Given the description of an element on the screen output the (x, y) to click on. 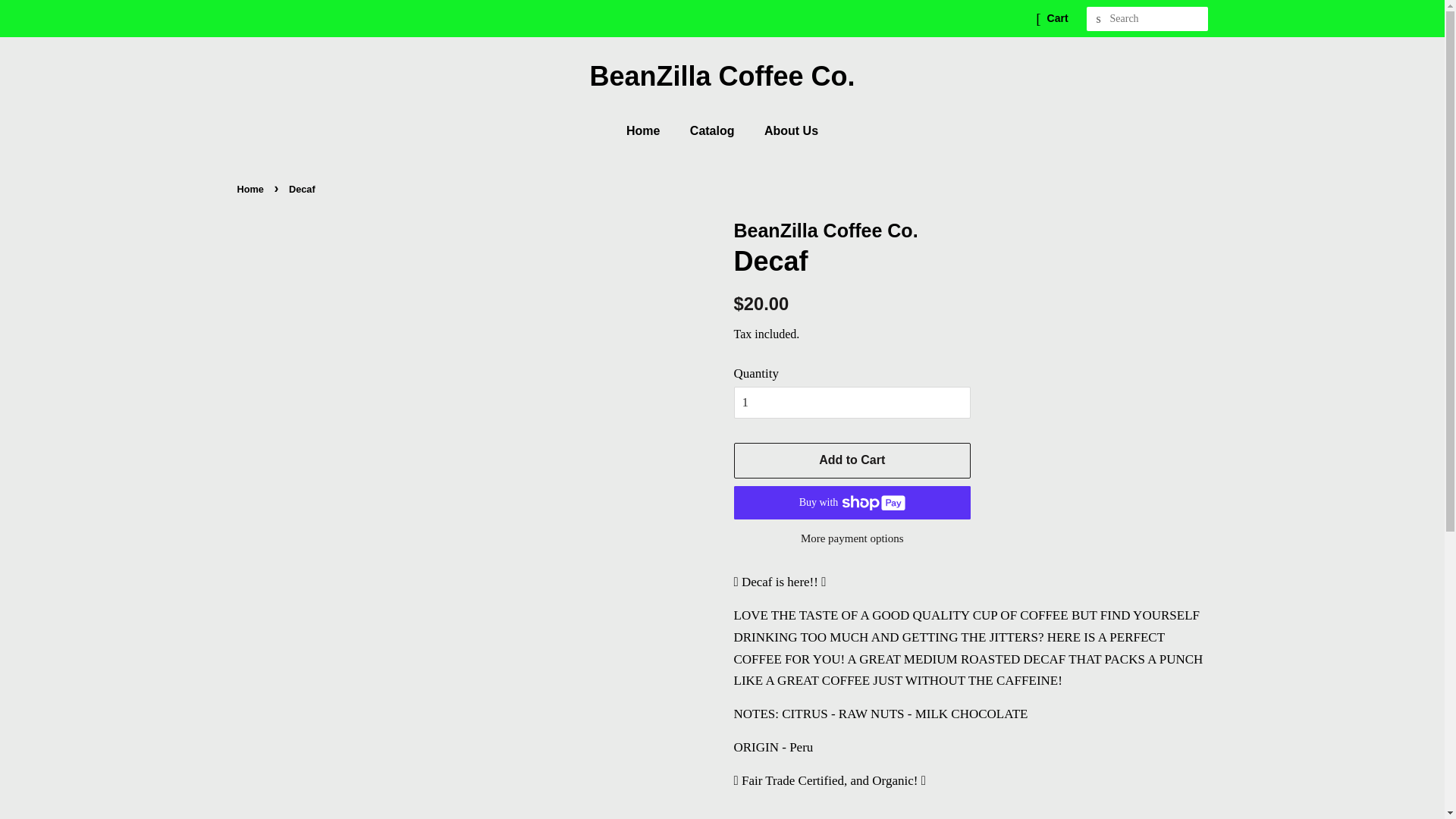
Search Element type: text (1097, 18)
More payment options Element type: text (852, 538)
About Us Element type: text (785, 130)
Home Element type: text (251, 188)
BeanZilla Coffee Co. Element type: text (721, 75)
Cart Element type: text (1057, 18)
Home Element type: text (650, 130)
Add to Cart Element type: text (852, 460)
Catalog Element type: text (713, 130)
